Given the description of an element on the screen output the (x, y) to click on. 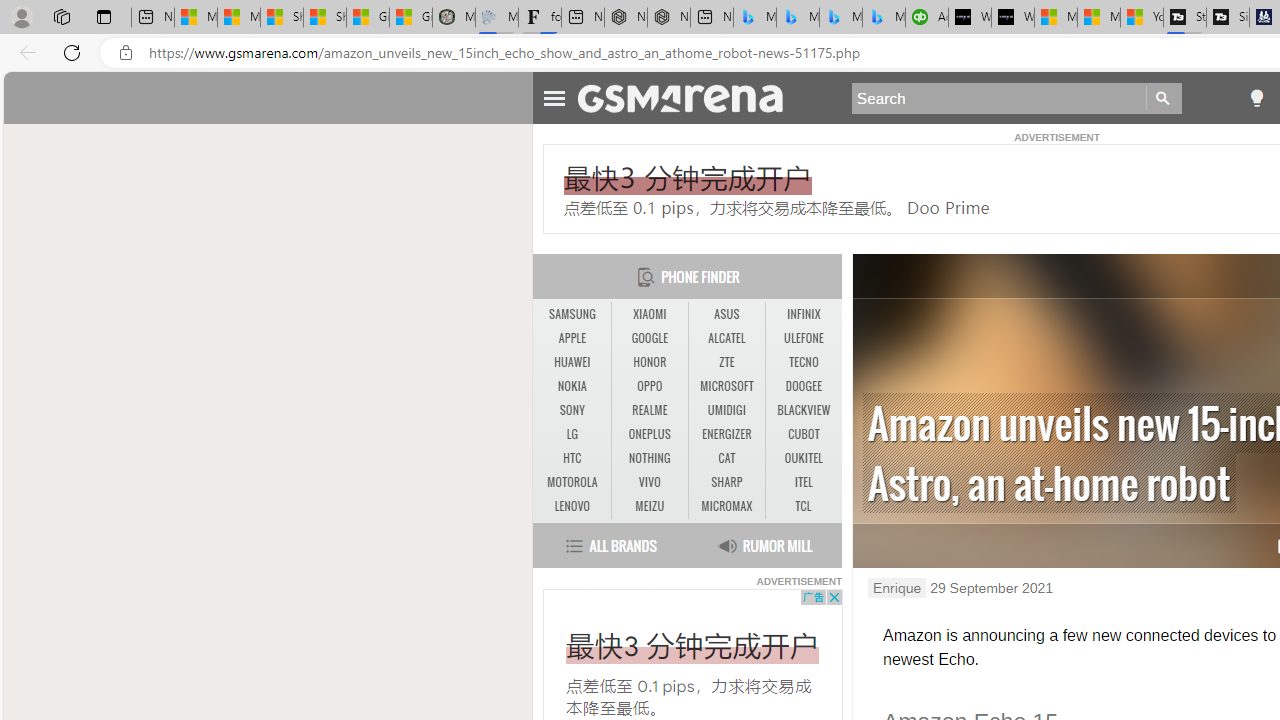
ONEPLUS (649, 434)
Shanghai, China weather forecast | Microsoft Weather (324, 17)
LG (571, 434)
LENOVO (571, 506)
UMIDIGI (726, 410)
CAT (726, 458)
ULEFONE (803, 339)
ONEPLUS (649, 434)
ASUS (726, 314)
Enrique (896, 588)
